Given the description of an element on the screen output the (x, y) to click on. 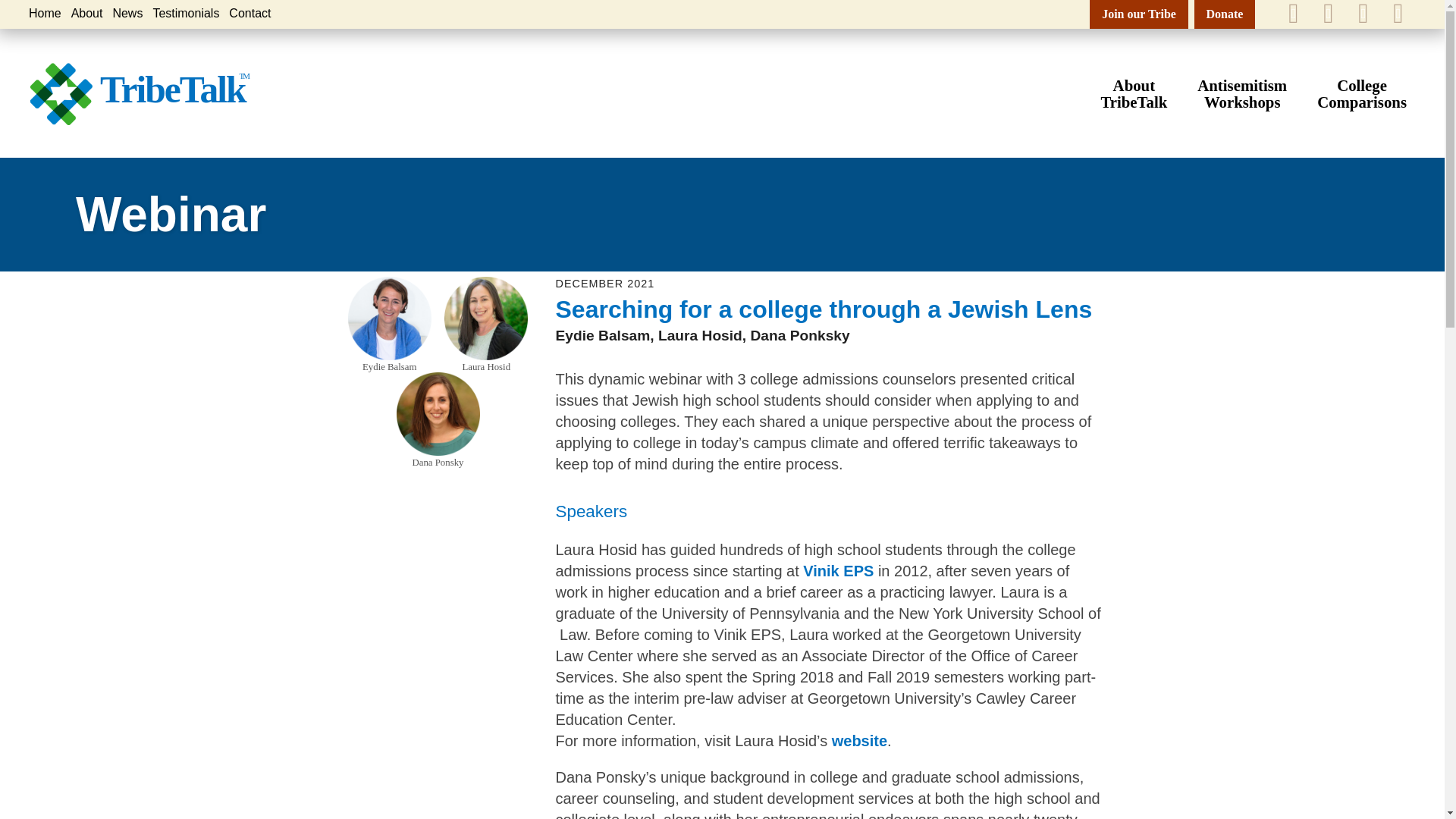
Join our Tribe (1138, 14)
Vinik EPS (838, 570)
Testimonials (1133, 93)
News (185, 12)
TribeTalkTM (127, 12)
Donate (1361, 93)
Contact (145, 89)
About (1224, 14)
website (1241, 93)
Home (249, 12)
